Given the description of an element on the screen output the (x, y) to click on. 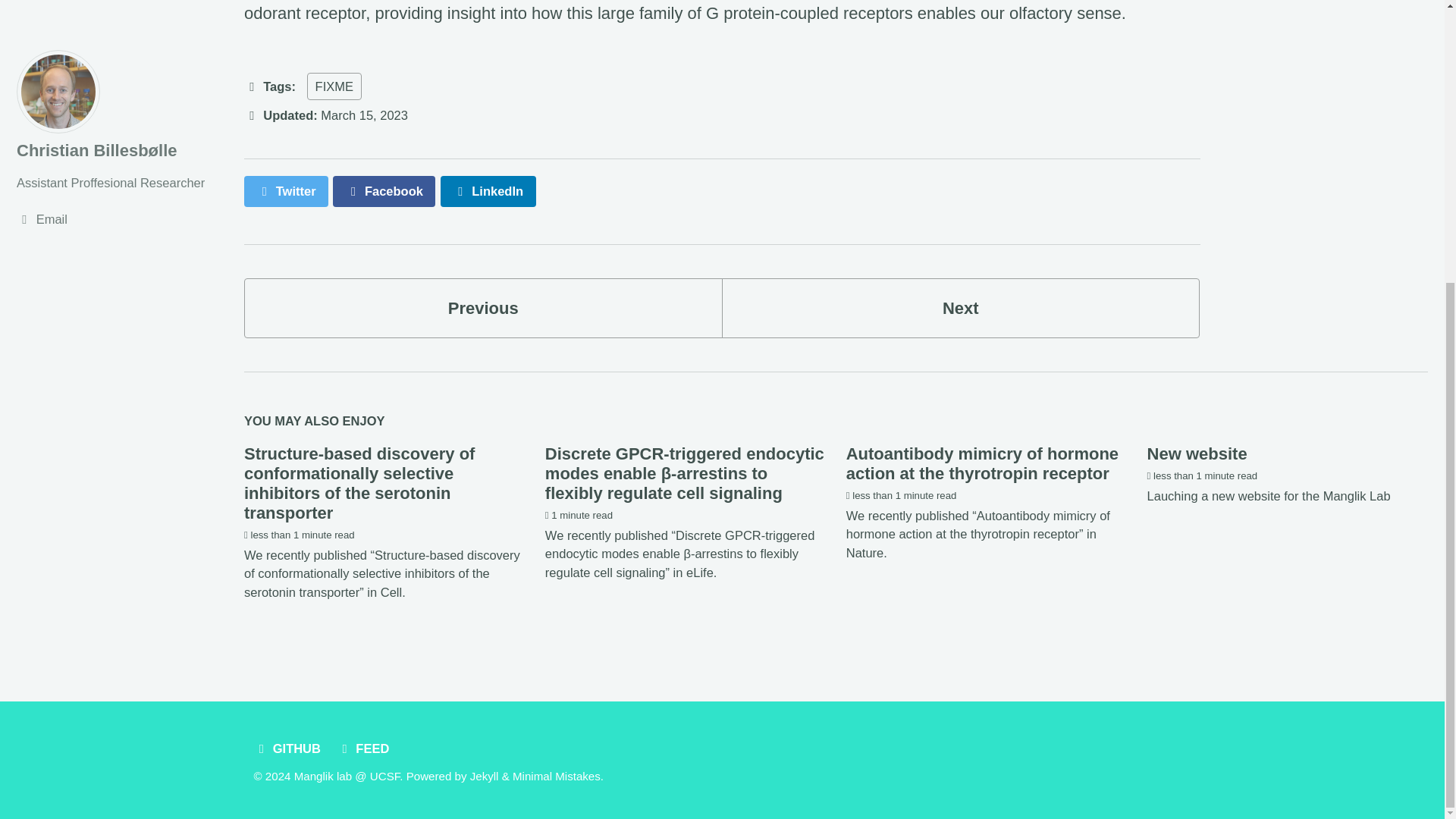
Share on Twitter (286, 191)
Minimal Mistakes (555, 775)
LinkedIn (488, 191)
FEED (366, 748)
Previous (483, 308)
New website (1197, 453)
Next (960, 308)
FIXME (334, 86)
